Given the description of an element on the screen output the (x, y) to click on. 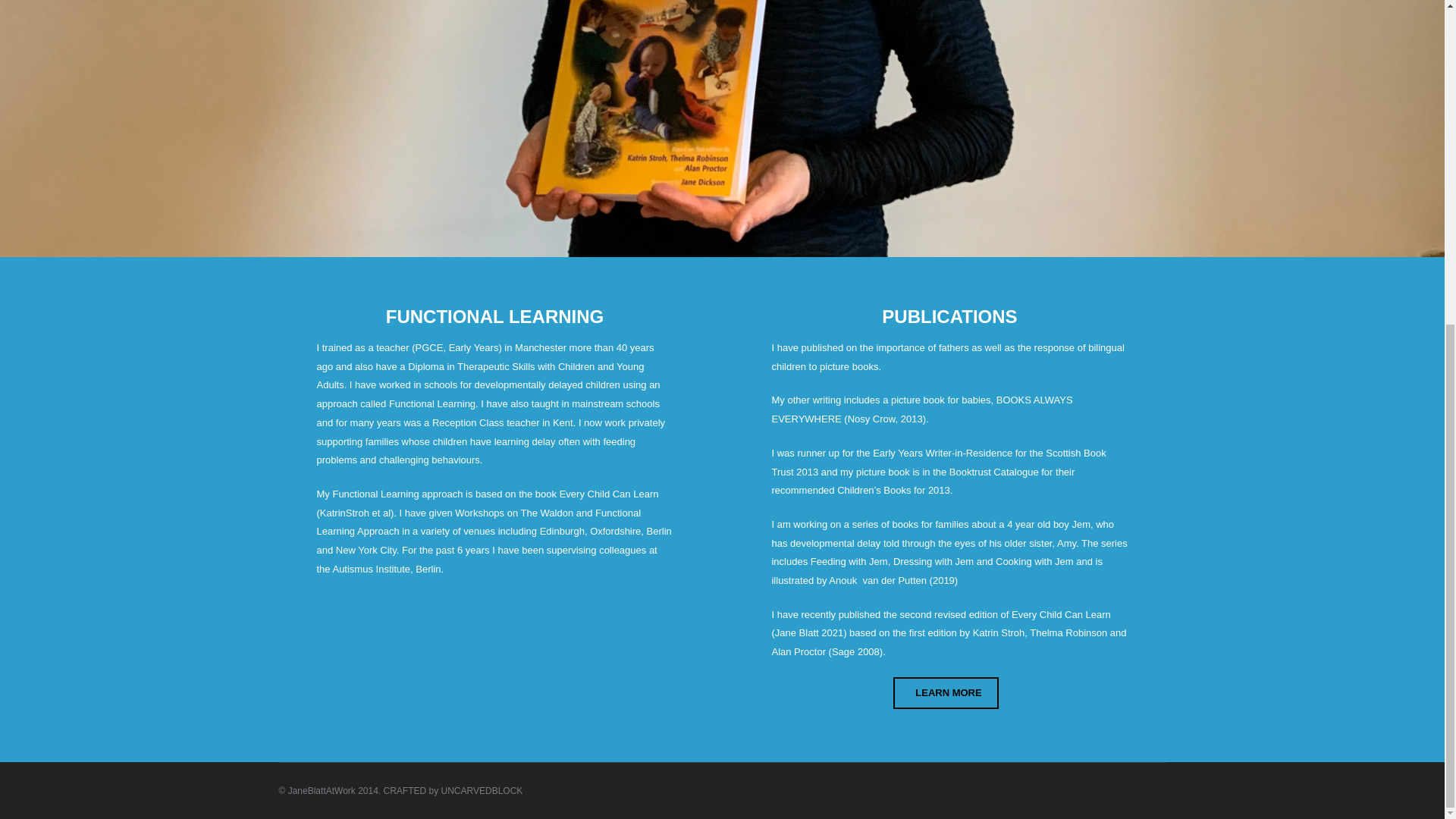
CRAFTED by UNCARVEDBLOCK (453, 790)
LEARN MORE (945, 693)
